Given the description of an element on the screen output the (x, y) to click on. 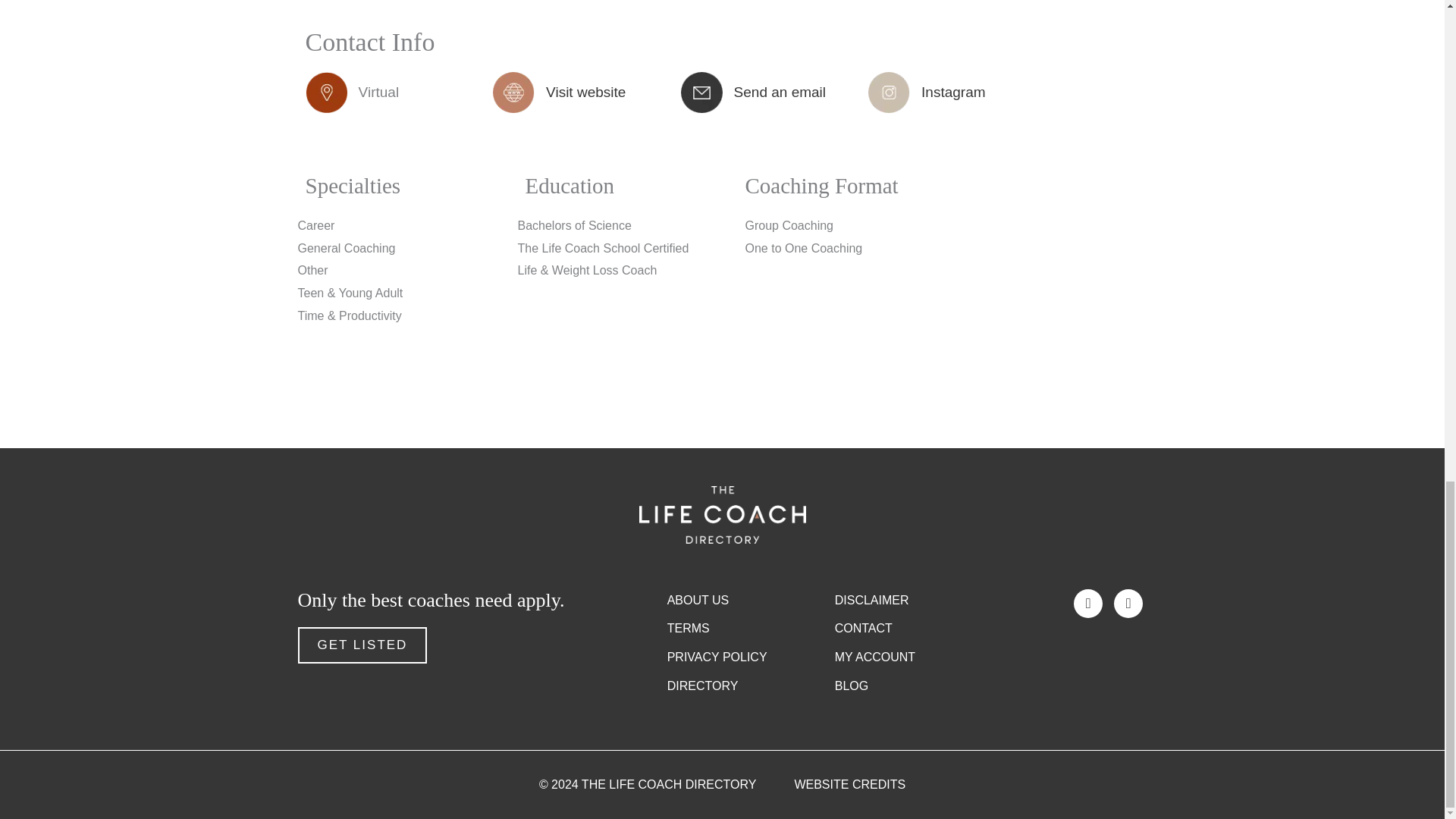
BLOG (918, 685)
Visit website (586, 91)
TERMS (750, 628)
DISCLAIMER (918, 599)
CONTACT (918, 628)
Instagram (953, 91)
Instagram (1127, 603)
MY ACCOUNT (918, 657)
DIRECTORY (750, 685)
ABOUT US (750, 599)
Facebook-f (1088, 603)
Send an email (779, 91)
PRIVACY POLICY (750, 657)
WEBSITE CREDITS (849, 784)
GET LISTED (361, 644)
